Given the description of an element on the screen output the (x, y) to click on. 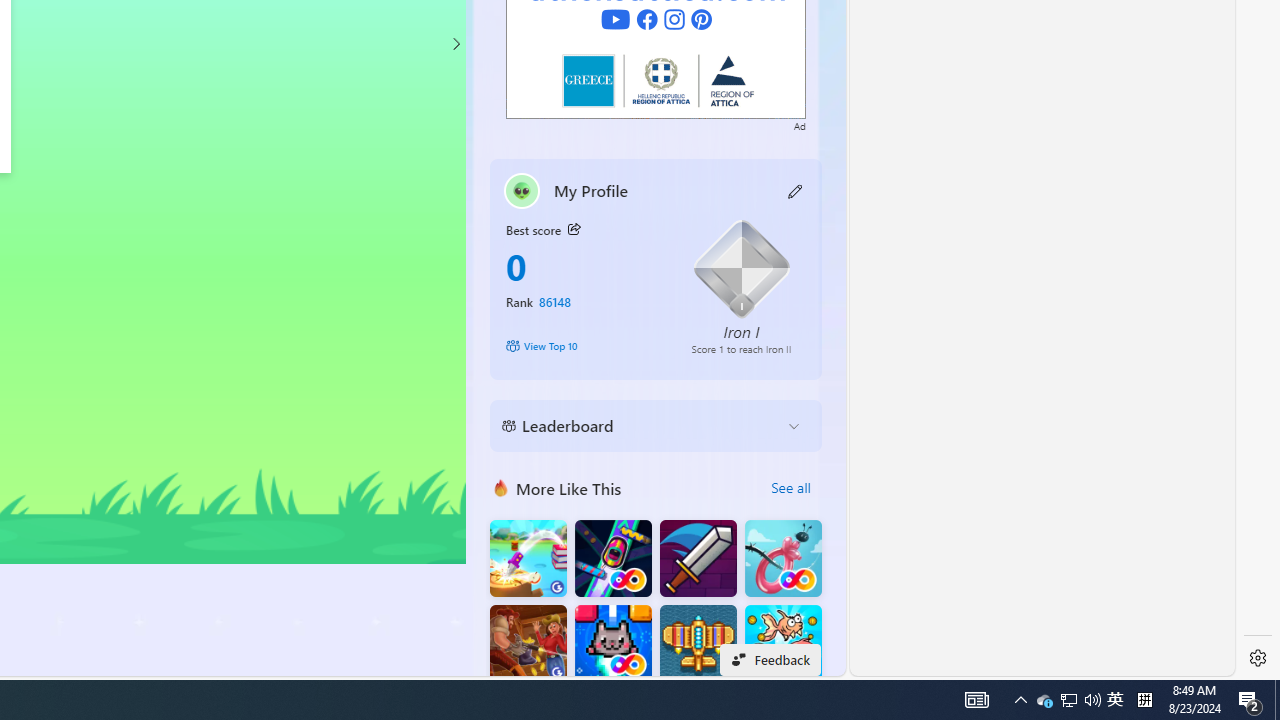
""'s avatar (522, 190)
Dungeon Master Knight (698, 558)
Saloon Robbery (528, 643)
See all (790, 487)
